Given the description of an element on the screen output the (x, y) to click on. 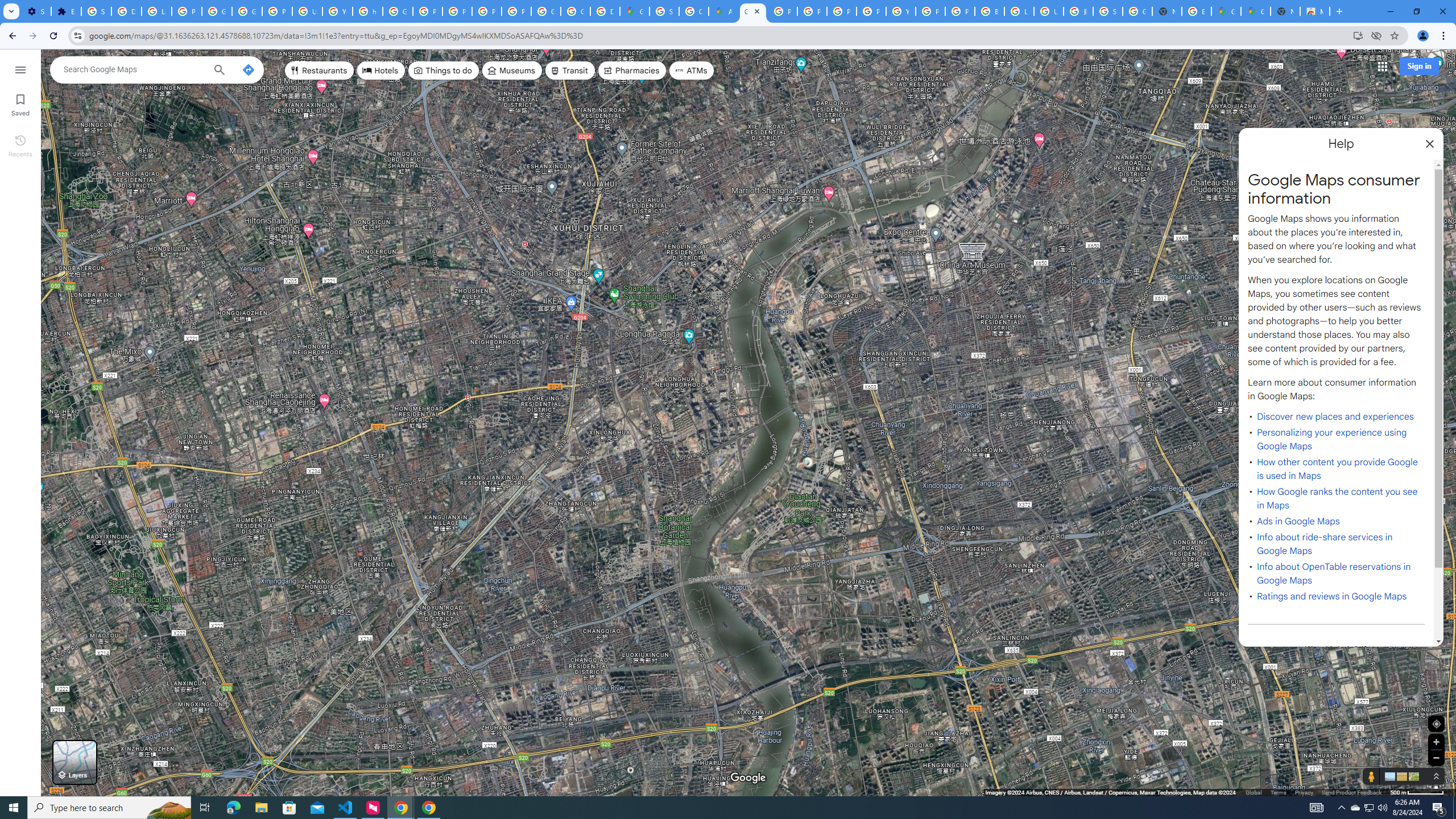
Create your Google Account (693, 11)
Menu (20, 68)
Recents (20, 145)
